Given the description of an element on the screen output the (x, y) to click on. 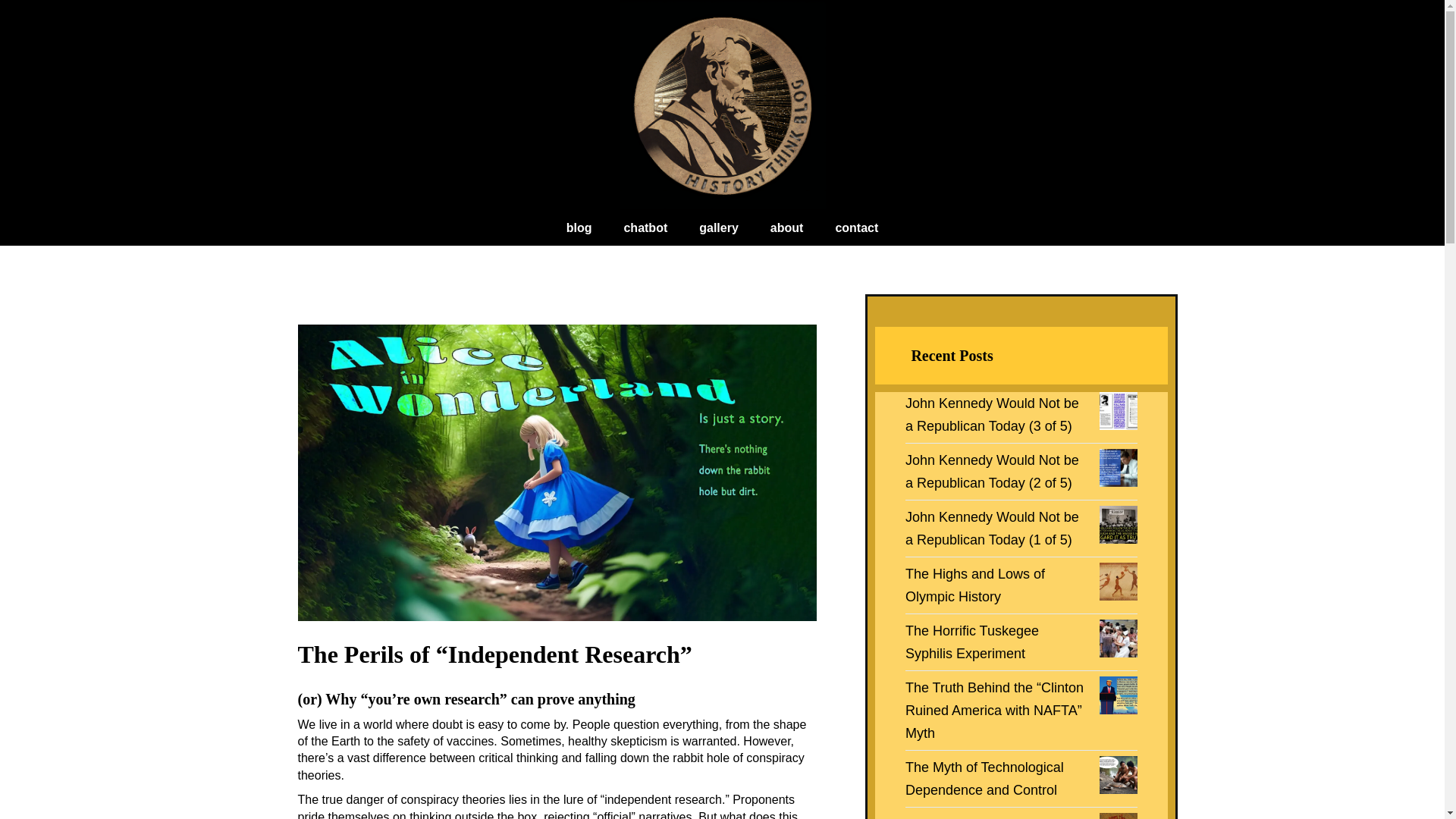
chatbot (645, 227)
gallery (719, 227)
The Myth of Technological Dependence and Control (984, 778)
header logo (722, 105)
contact (855, 227)
The Highs and Lows of Olympic History (975, 585)
blog (579, 227)
The Horrific Tuskegee Syphilis Experiment (972, 641)
about (786, 227)
